Given the description of an element on the screen output the (x, y) to click on. 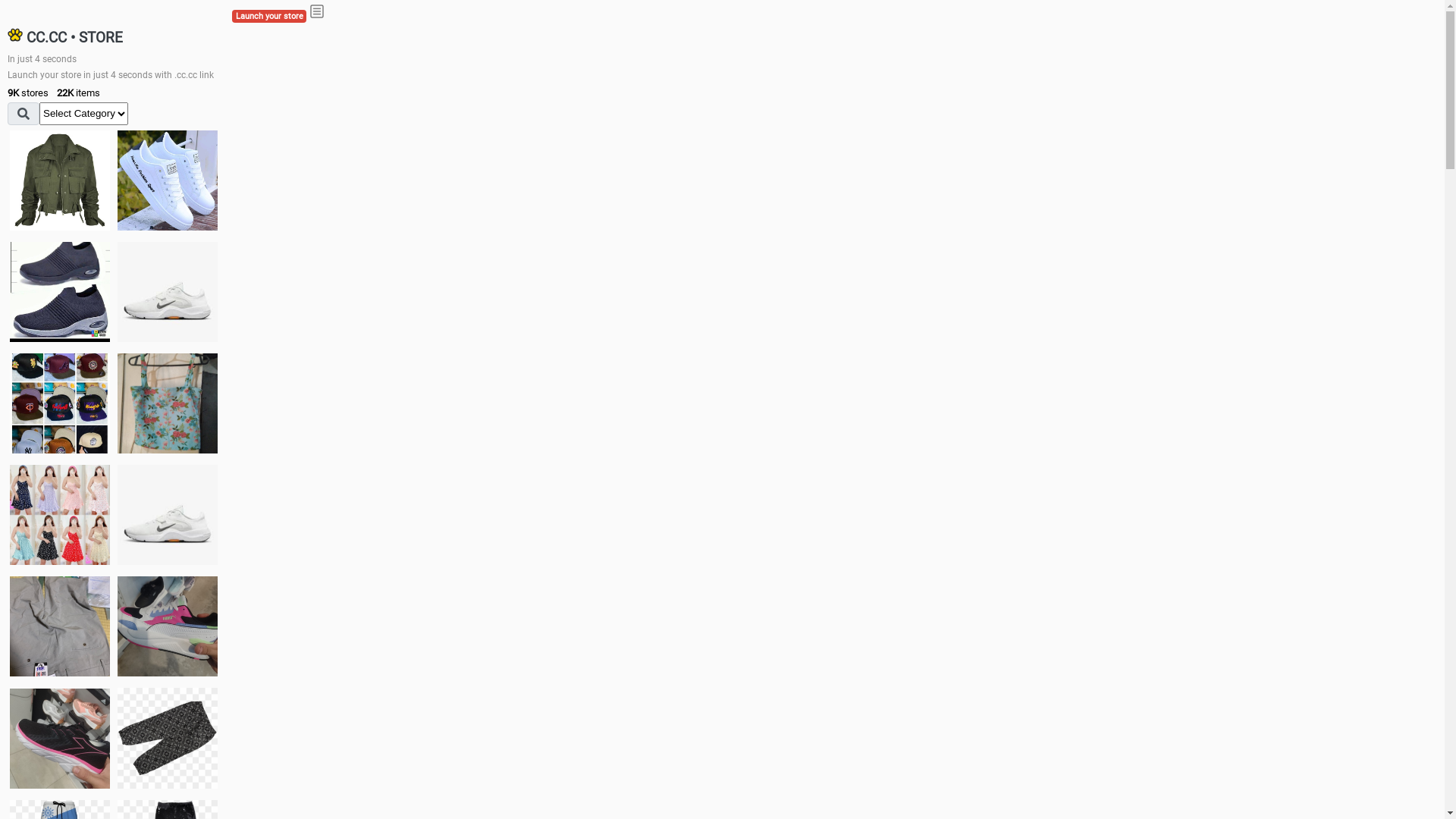
white shoes Element type: hover (167, 180)
Shoes for boys Element type: hover (167, 291)
shoes for boys Element type: hover (59, 291)
Dress/square nect top Element type: hover (59, 514)
Zapatillas pumas Element type: hover (167, 626)
Short pant Element type: hover (167, 737)
Shoes Element type: hover (167, 514)
Launch your store Element type: text (269, 15)
jacket Element type: hover (59, 180)
Zapatillas Element type: hover (59, 738)
Ukay cloth Element type: hover (167, 403)
Things we need Element type: hover (59, 403)
